Given the description of an element on the screen output the (x, y) to click on. 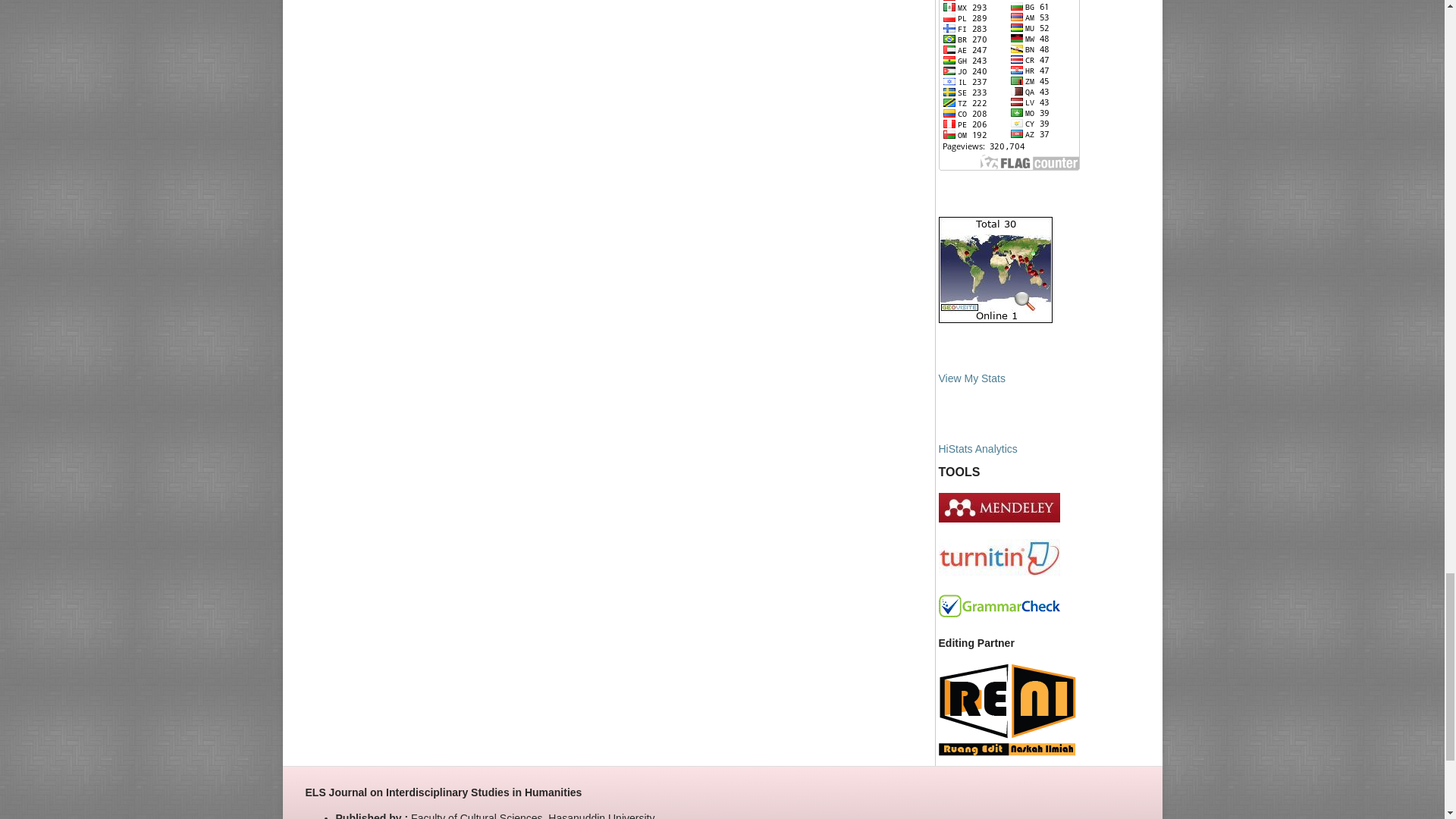
turnitin (999, 573)
Mendeley (999, 518)
Grammar Check (999, 613)
